Given the description of an element on the screen output the (x, y) to click on. 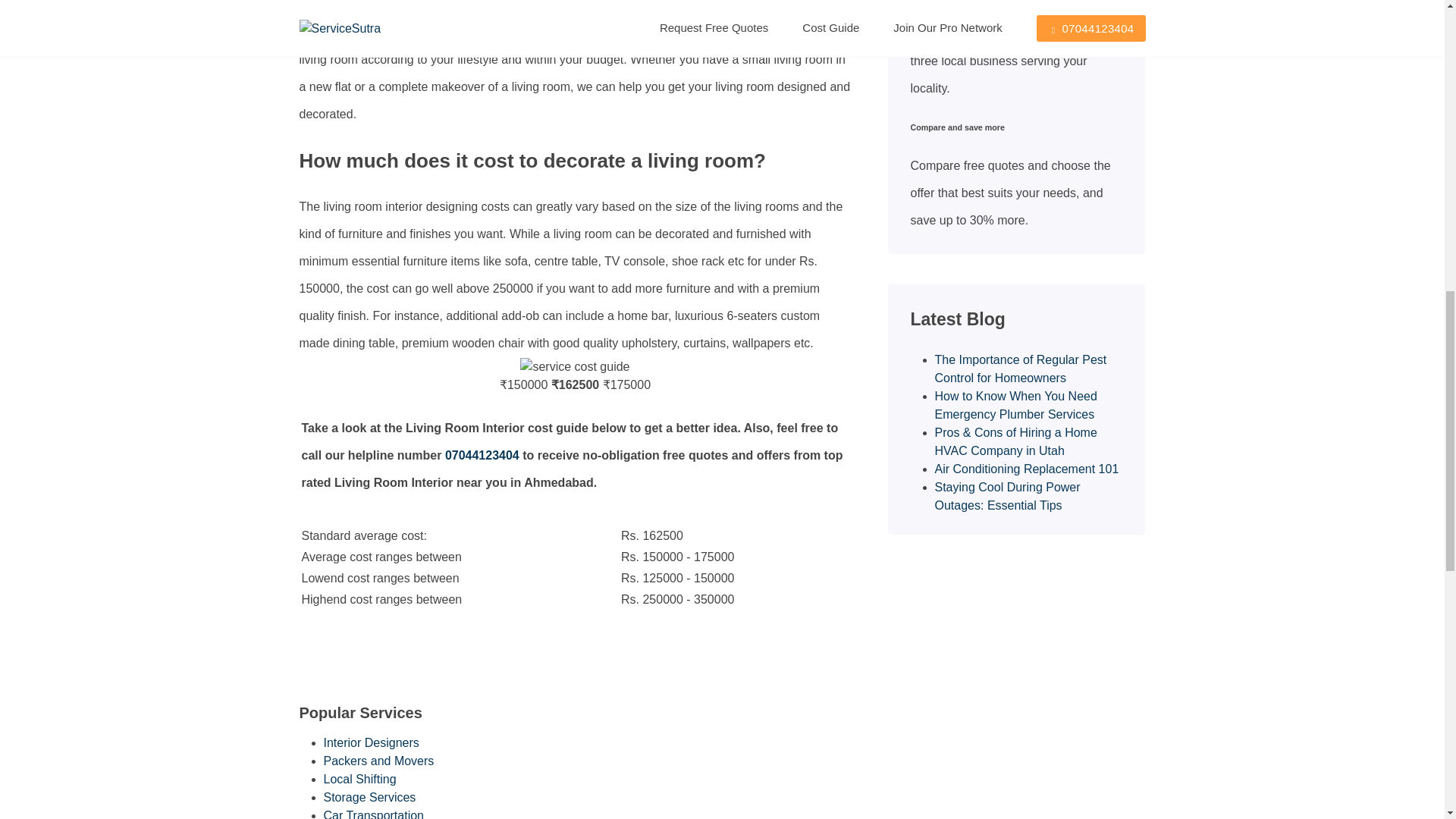
Local Shifting (359, 779)
Click to call us (482, 454)
Packers and Movers (378, 760)
Air Conditioning Replacement 101 (1026, 468)
Domestic Relocation (378, 760)
Storage Services (368, 797)
07044123404 (482, 454)
Air Conditioning Replacement 101 (1026, 468)
Car Transportation (373, 814)
The Importance of Regular Pest Control for Homeowners (1020, 368)
Local Shifting (359, 779)
How to Know When You Need Emergency Plumber Services (1015, 404)
Storage Services (368, 797)
The Importance of Regular Pest Control for Homeowners (1020, 368)
Interior Designers (371, 742)
